Given the description of an element on the screen output the (x, y) to click on. 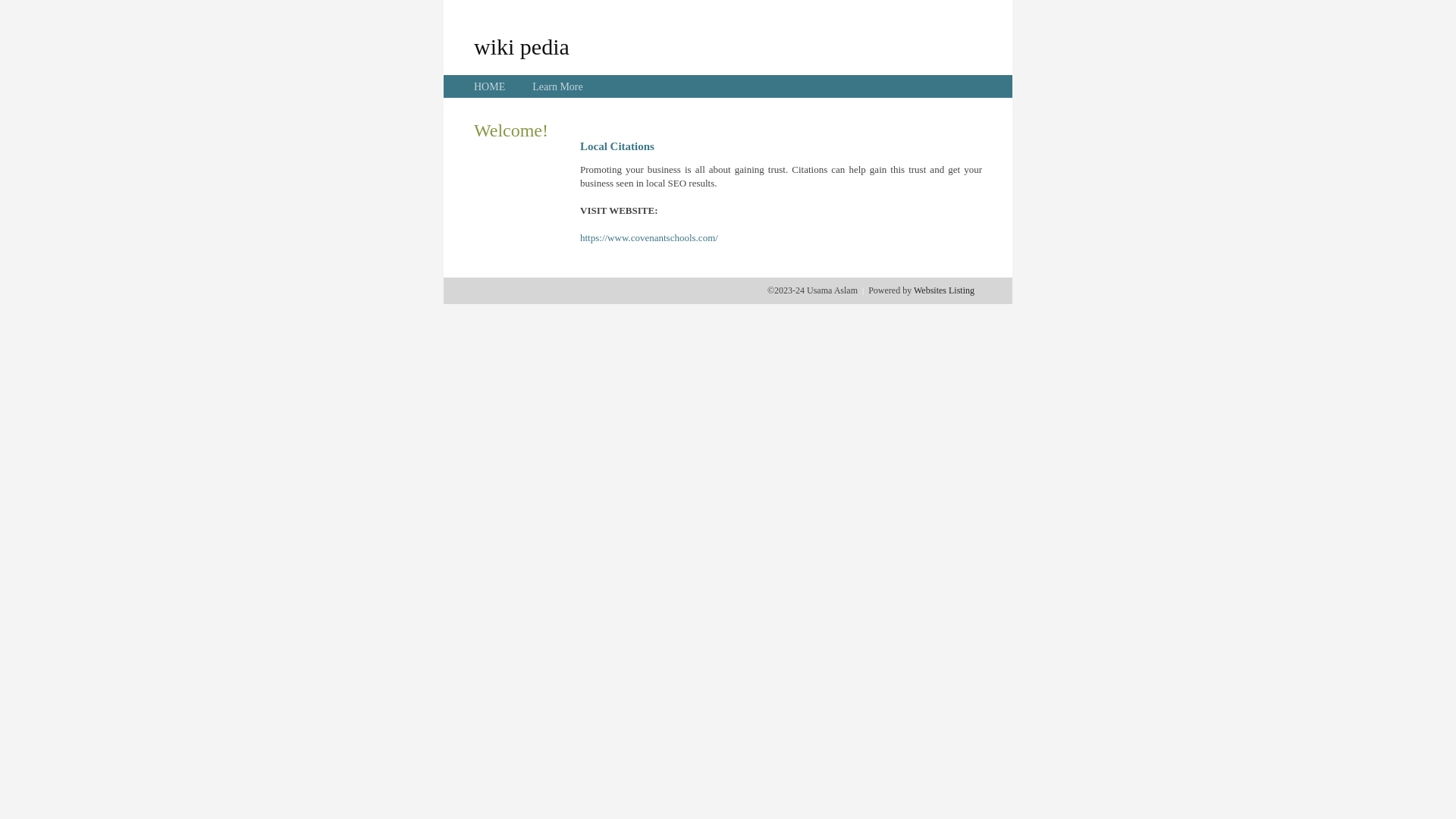
HOME Element type: text (489, 86)
https://www.covenantschools.com/ Element type: text (649, 237)
Websites Listing Element type: text (943, 290)
wiki pedia Element type: text (521, 46)
Learn More Element type: text (557, 86)
